Given the description of an element on the screen output the (x, y) to click on. 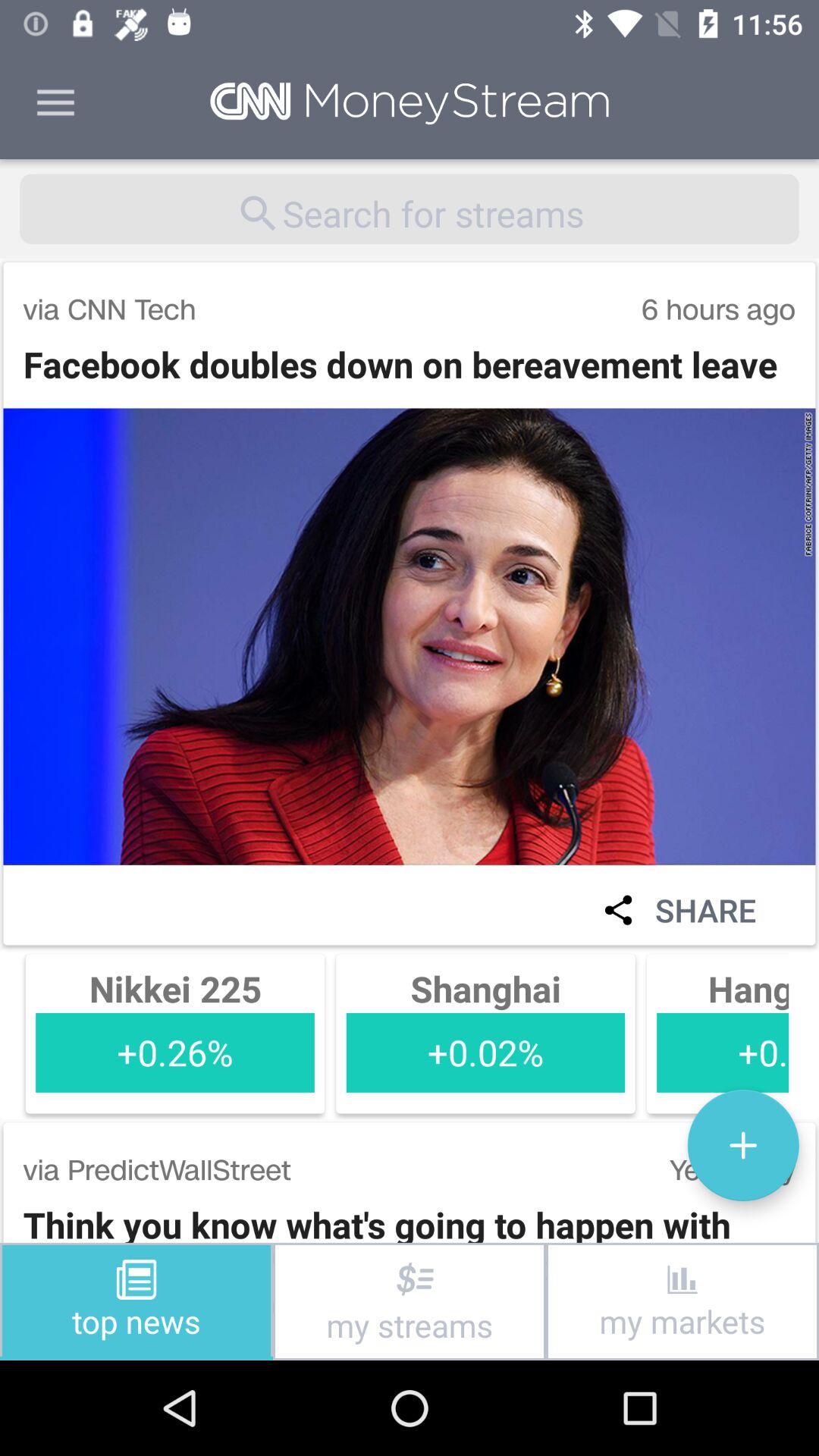
search bar (409, 208)
